Given the description of an element on the screen output the (x, y) to click on. 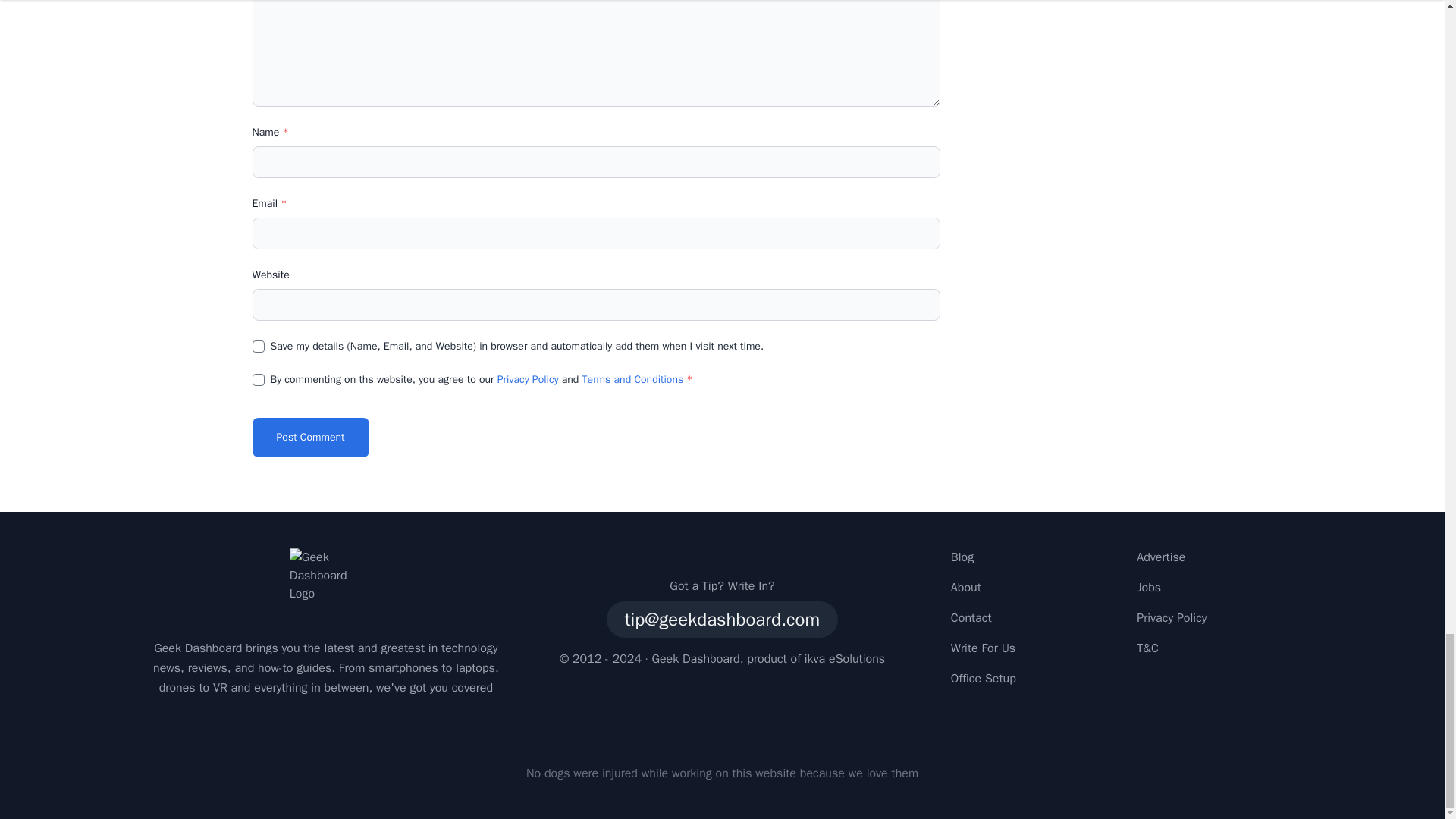
yes (257, 346)
on (257, 379)
Post Comment (309, 437)
